Given the description of an element on the screen output the (x, y) to click on. 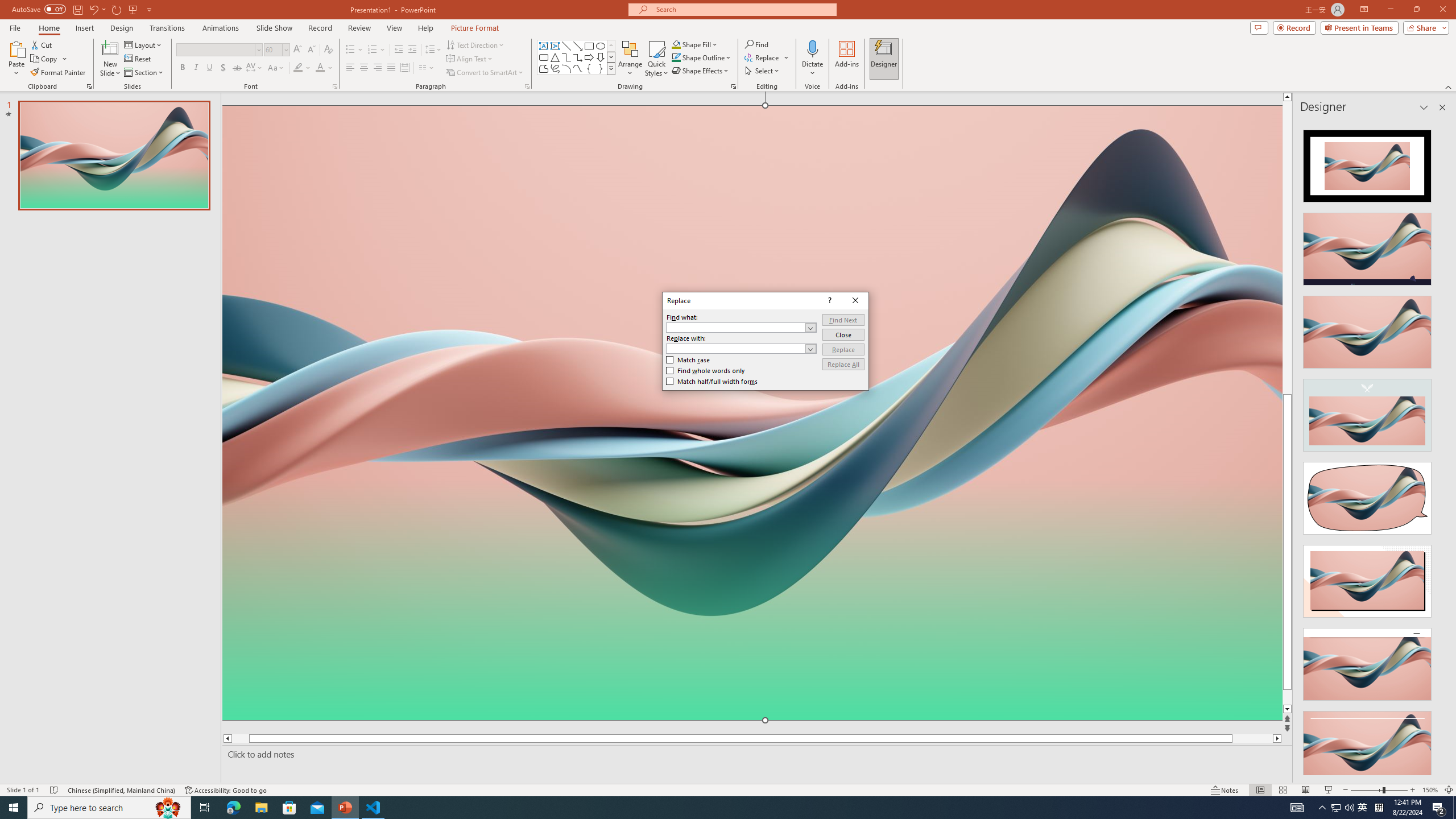
Picture Format (475, 28)
Context help (829, 300)
